Given the description of an element on the screen output the (x, y) to click on. 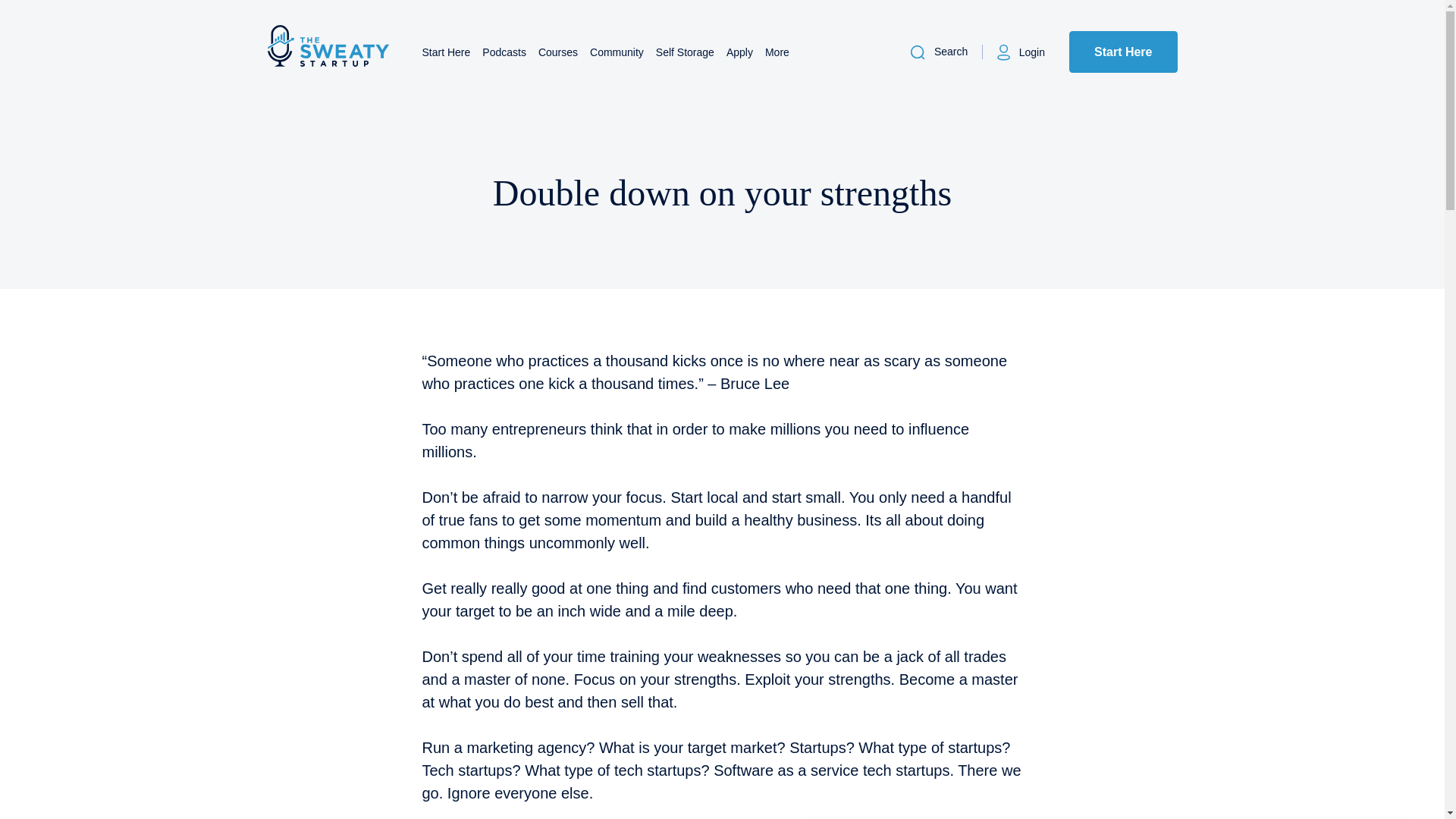
Self Storage (685, 51)
Start Here (1122, 51)
Podcasts (503, 51)
Login (1019, 51)
Community (616, 51)
Start Here (446, 51)
Courses (558, 51)
